Given the description of an element on the screen output the (x, y) to click on. 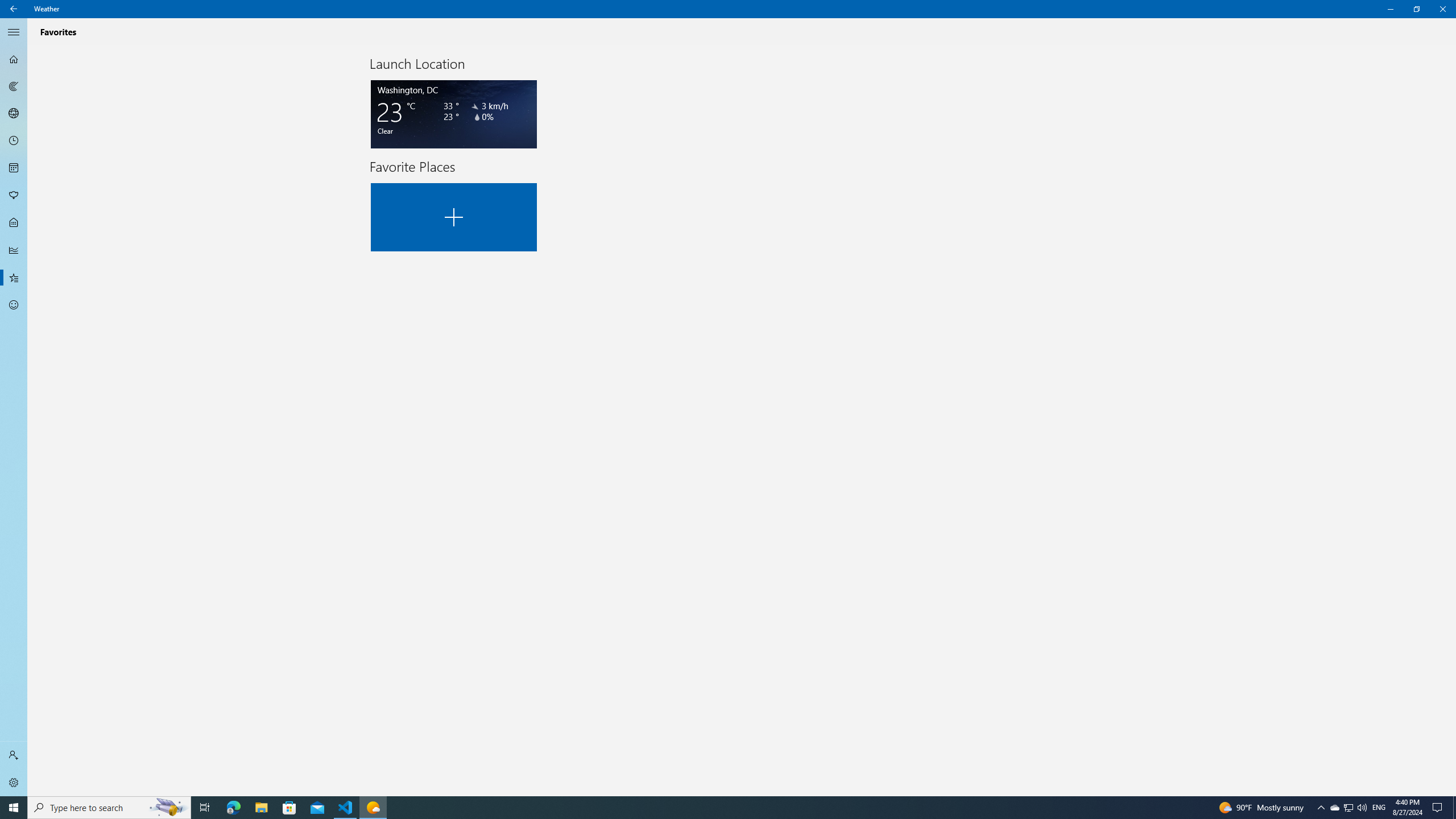
Action Center, No new notifications (1439, 807)
Historical Weather - Not Selected (13, 249)
Favorites - Not Selected (13, 277)
Running applications (706, 807)
Add to Favorites (454, 217)
File Explorer (261, 807)
3D Maps - Not Selected (13, 113)
Vertical Small Increase (1452, 792)
Search highlights icon opens search home window (167, 807)
Close Weather (1442, 9)
Vertical Large Increase (1452, 420)
Weather - 1 running window (373, 807)
Vertical (1452, 420)
Collapse Navigation (13, 31)
Tray Input Indicator - English (United States) (1378, 807)
